Given the description of an element on the screen output the (x, y) to click on. 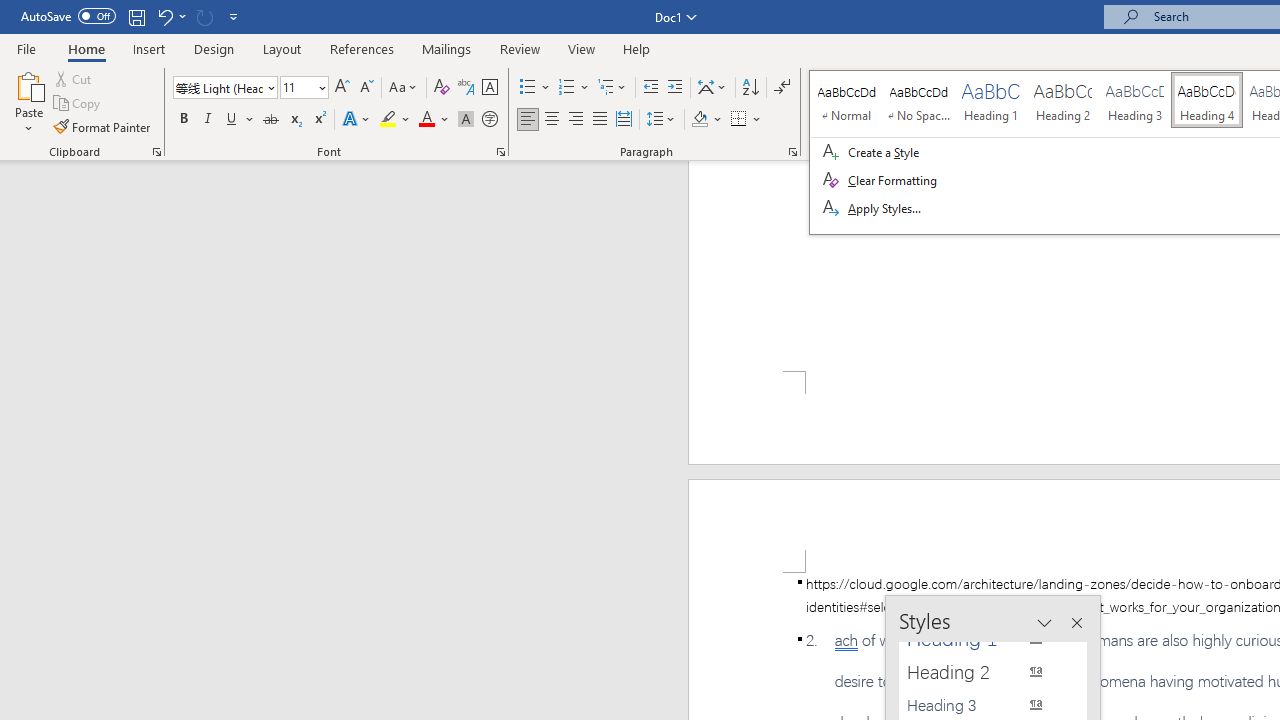
Undo Style (170, 15)
